Given the description of an element on the screen output the (x, y) to click on. 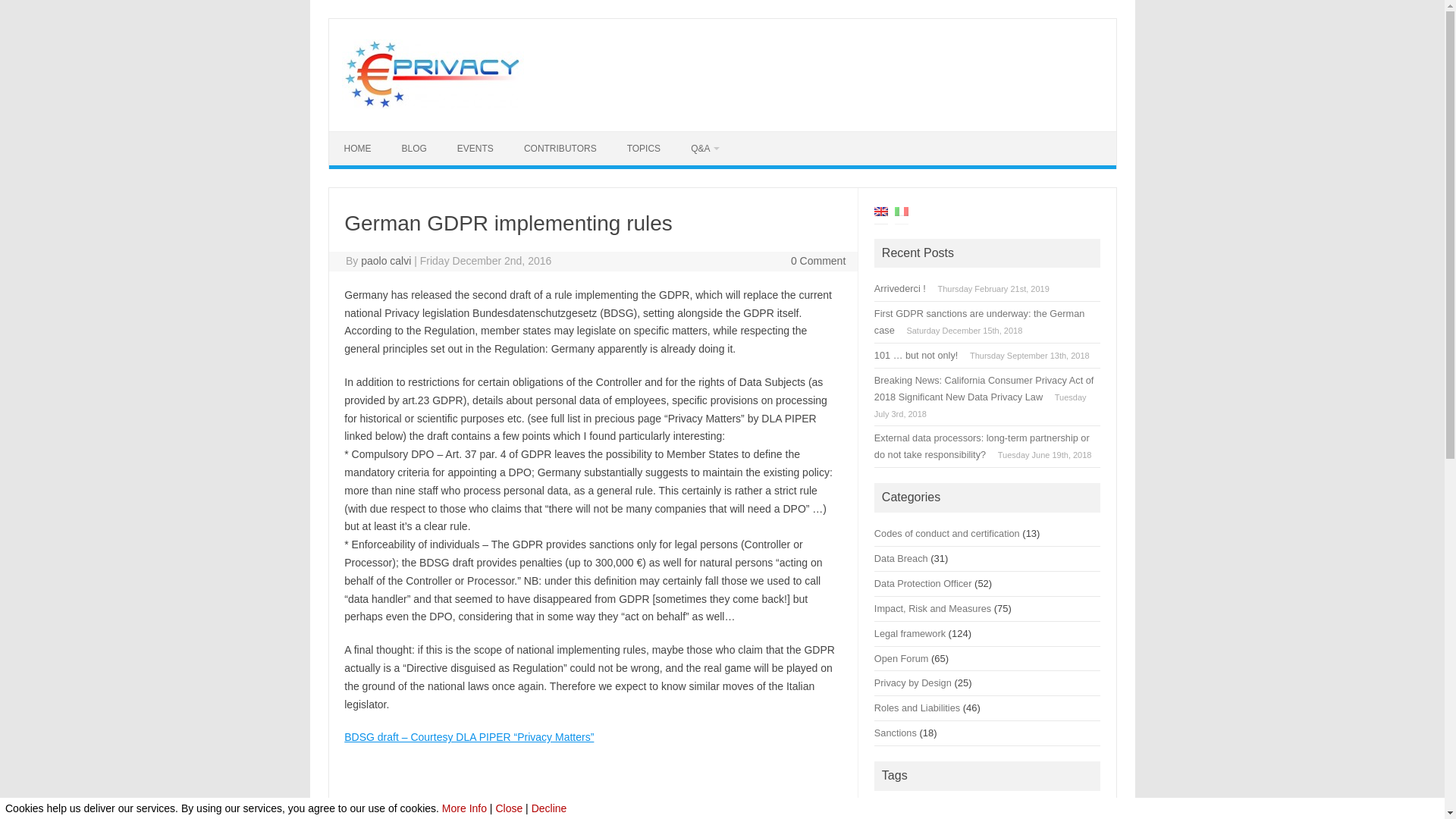
Europrivacy (431, 105)
EVENTS (475, 148)
Codes of conduct and certification (947, 532)
Sanctions (611, 807)
First GDPR sanctions are underway: the German case (979, 321)
Posts by paolo calvi (385, 260)
Roles and Liabilities (540, 807)
Data Protection Officer (441, 807)
Legal framework (909, 633)
BDSG (679, 807)
Incaricato (416, 818)
Germania (785, 807)
